Given the description of an element on the screen output the (x, y) to click on. 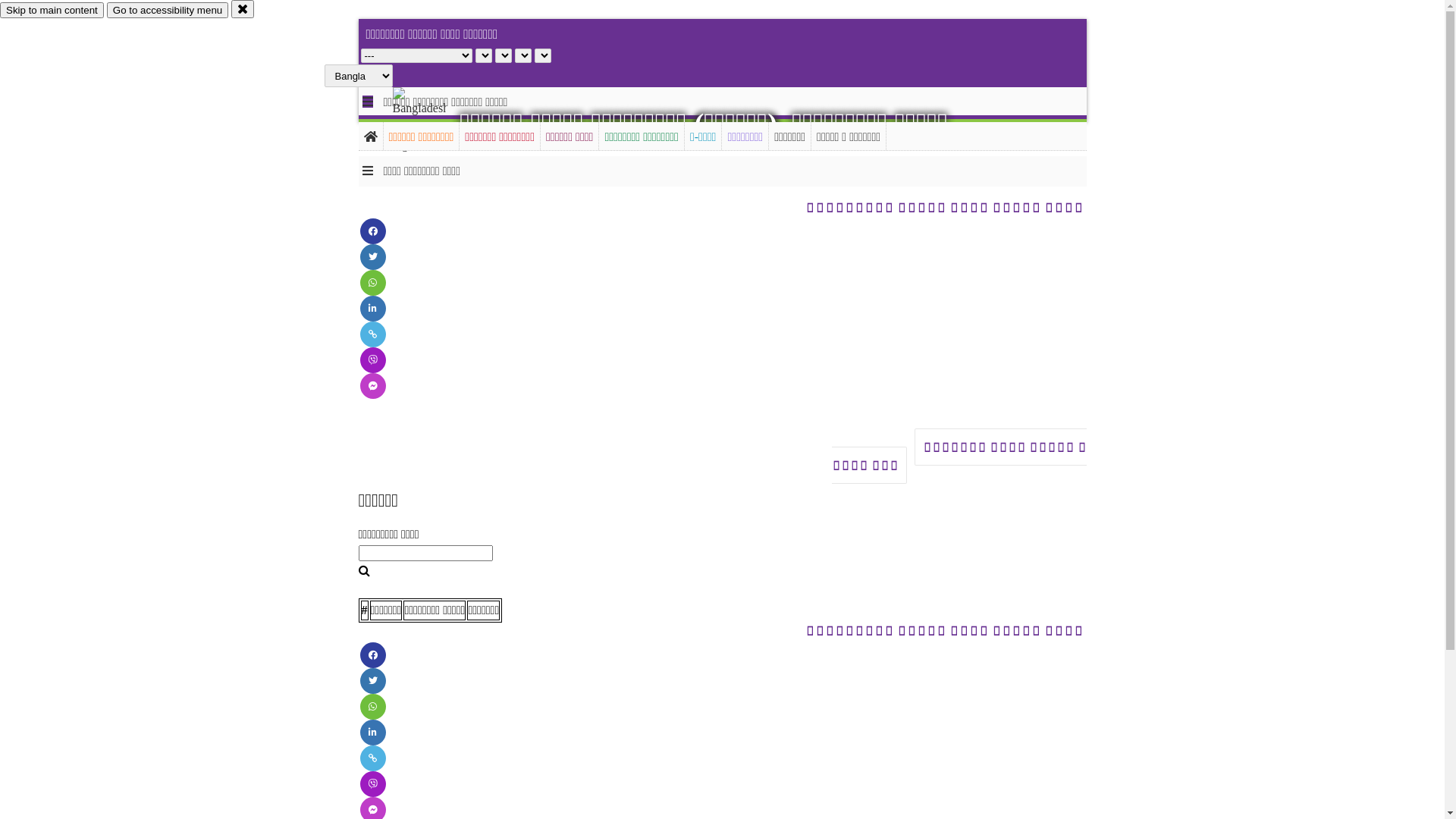
Go to accessibility menu Element type: text (167, 10)
close Element type: hover (242, 9)

                
             Element type: hover (431, 120)
Skip to main content Element type: text (51, 10)
